Given the description of an element on the screen output the (x, y) to click on. 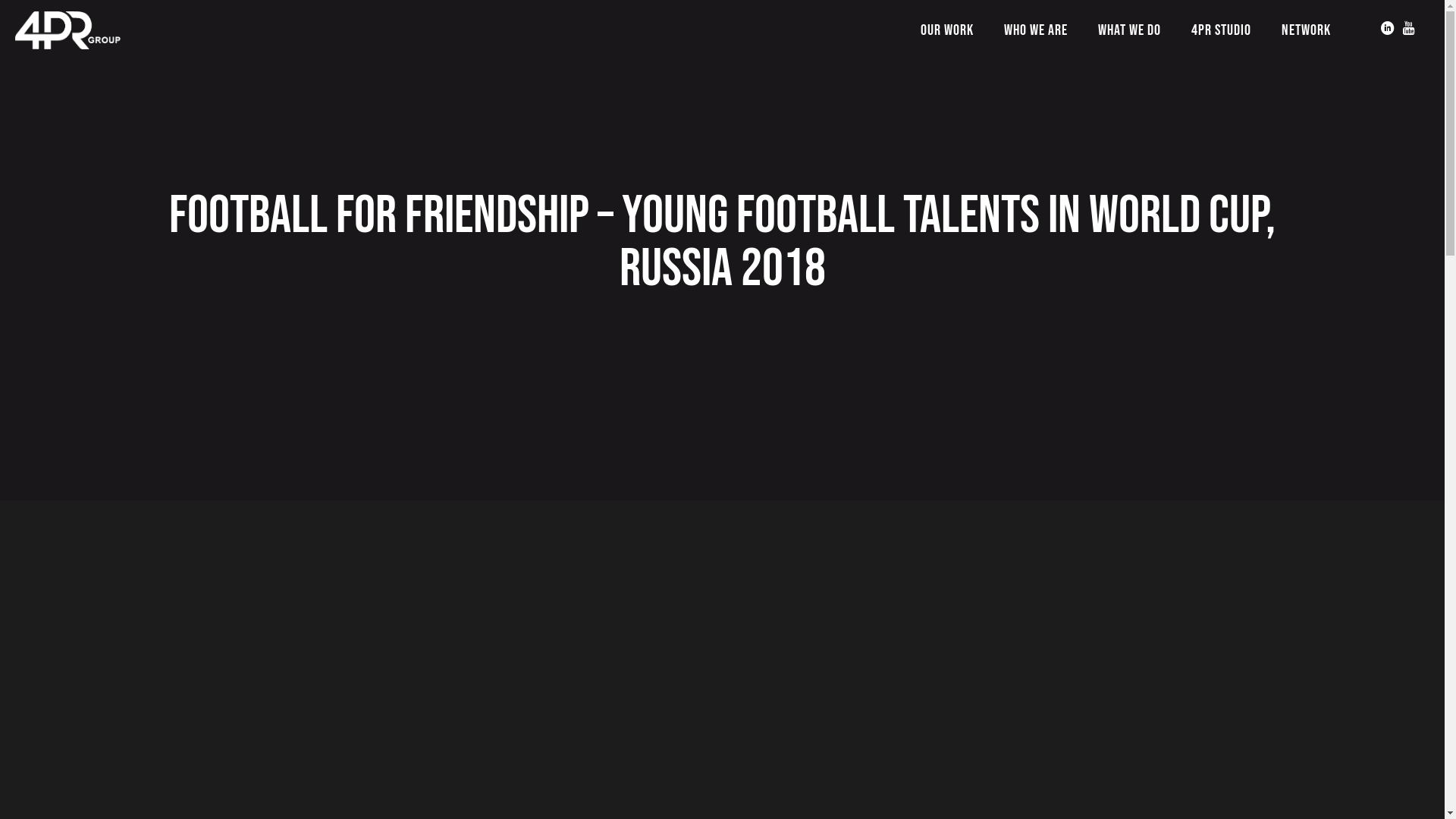
4PR STUDIO Element type: text (1221, 30)
OUR WORK Element type: text (946, 30)
WHO WE ARE Element type: text (1035, 30)
WHAT WE DO Element type: text (1129, 30)
NETWORK Element type: text (1306, 30)
